Given the description of an element on the screen output the (x, y) to click on. 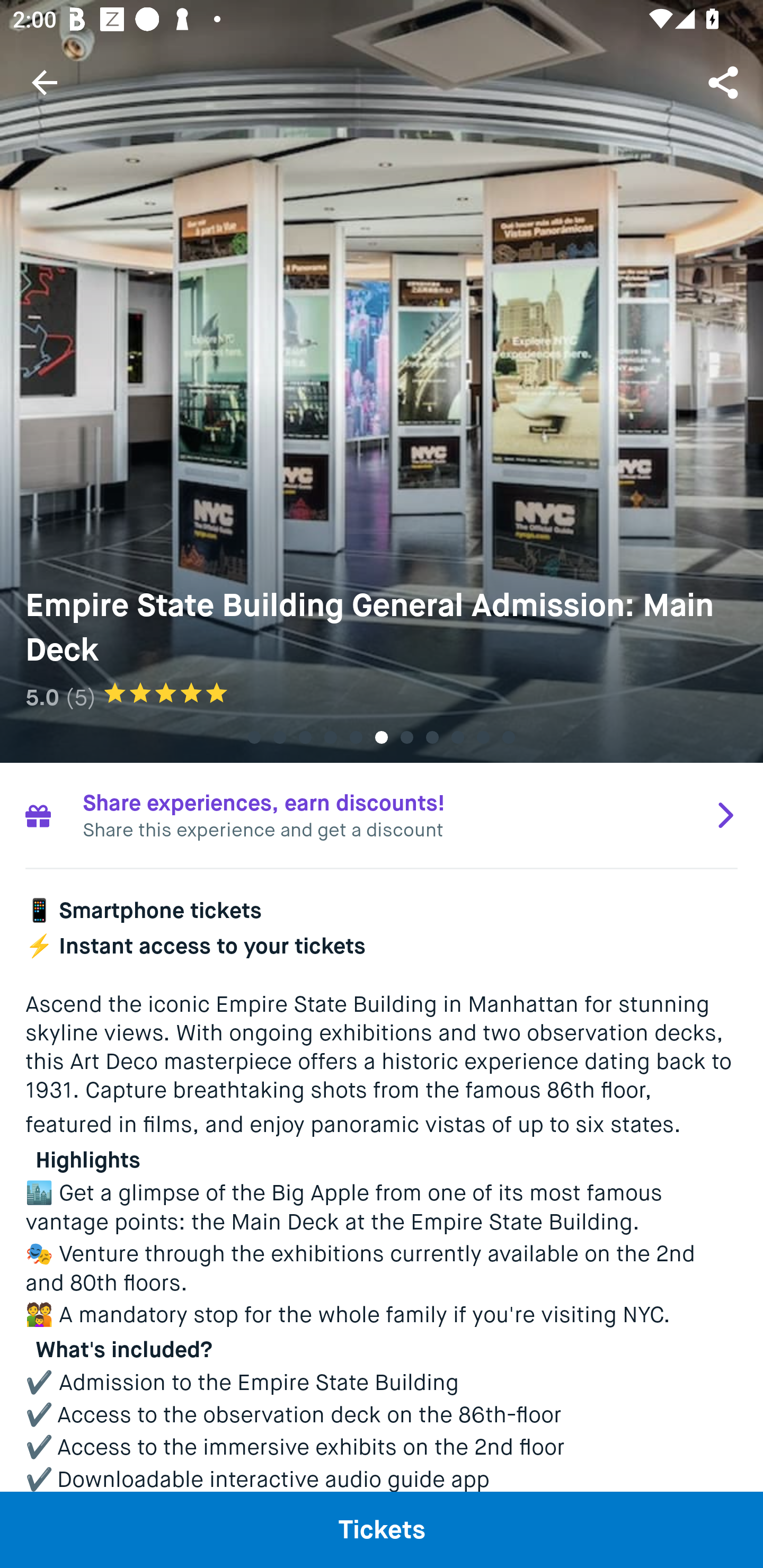
Navigate up (44, 82)
Share (724, 81)
(5) (80, 697)
Tickets (381, 1529)
